Given the description of an element on the screen output the (x, y) to click on. 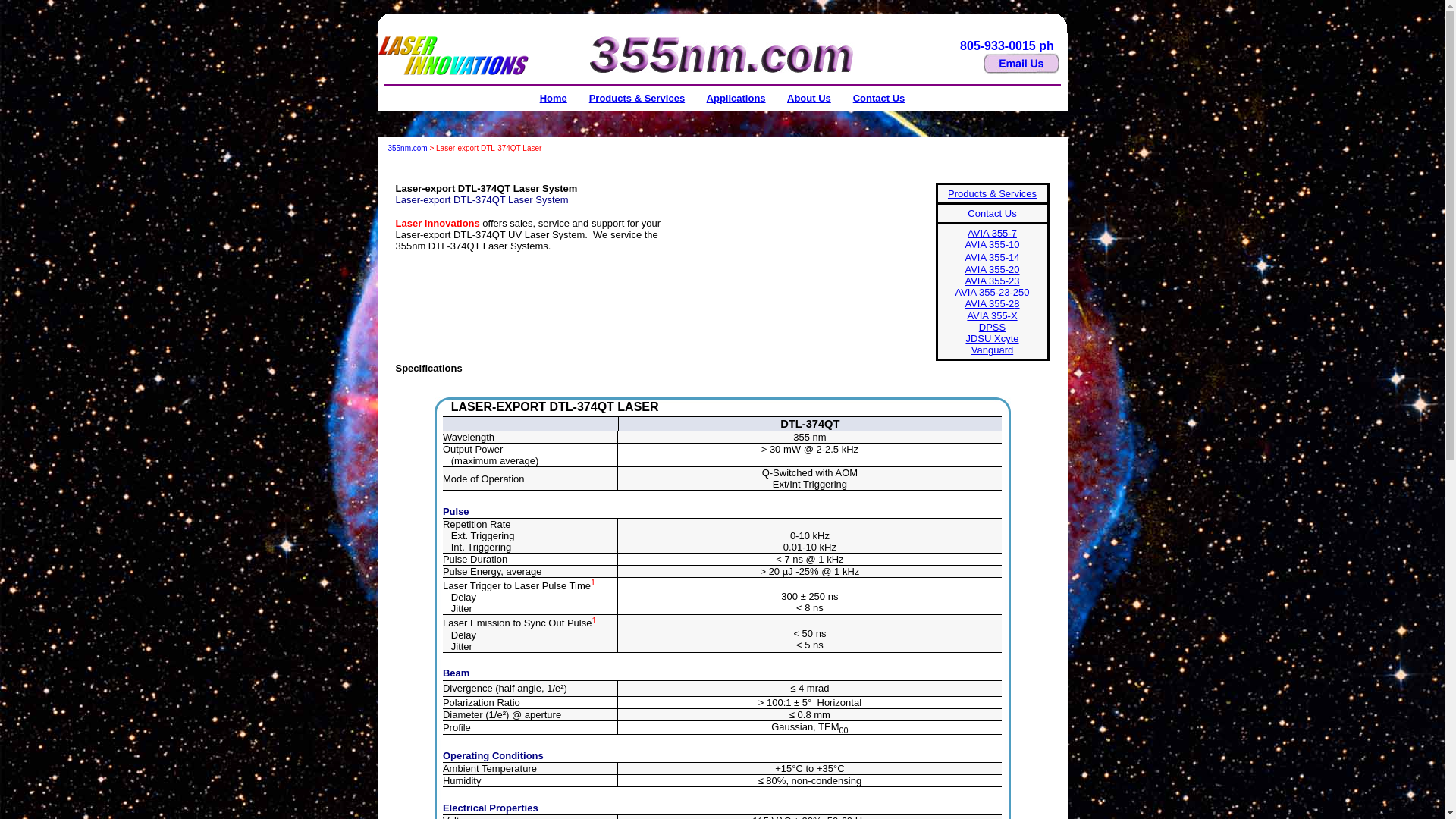
nm.com Element type: text (413, 148)
DPSS Element type: text (992, 326)
Products & Services Element type: text (636, 97)
Contact Us Element type: text (879, 97)
AVIA 355-7
AVIA 355-10
AVIA 355-14 Element type: text (991, 245)
Contact Us Element type: text (991, 213)
AVIA 355-X Element type: text (992, 320)
JDSU Xcyte Element type: text (991, 338)
About Us Element type: text (809, 97)
AVIA 355-20 Element type: text (991, 274)
Applications Element type: text (735, 97)
Home Element type: text (553, 97)
AVIA 355-23
AVIA 355-23-250
AVIA 355-2 Element type: text (991, 292)
Vanguard Element type: text (992, 349)
355 Element type: text (393, 145)
Products & Services Element type: text (991, 193)
8 Element type: text (1016, 303)
